Given the description of an element on the screen output the (x, y) to click on. 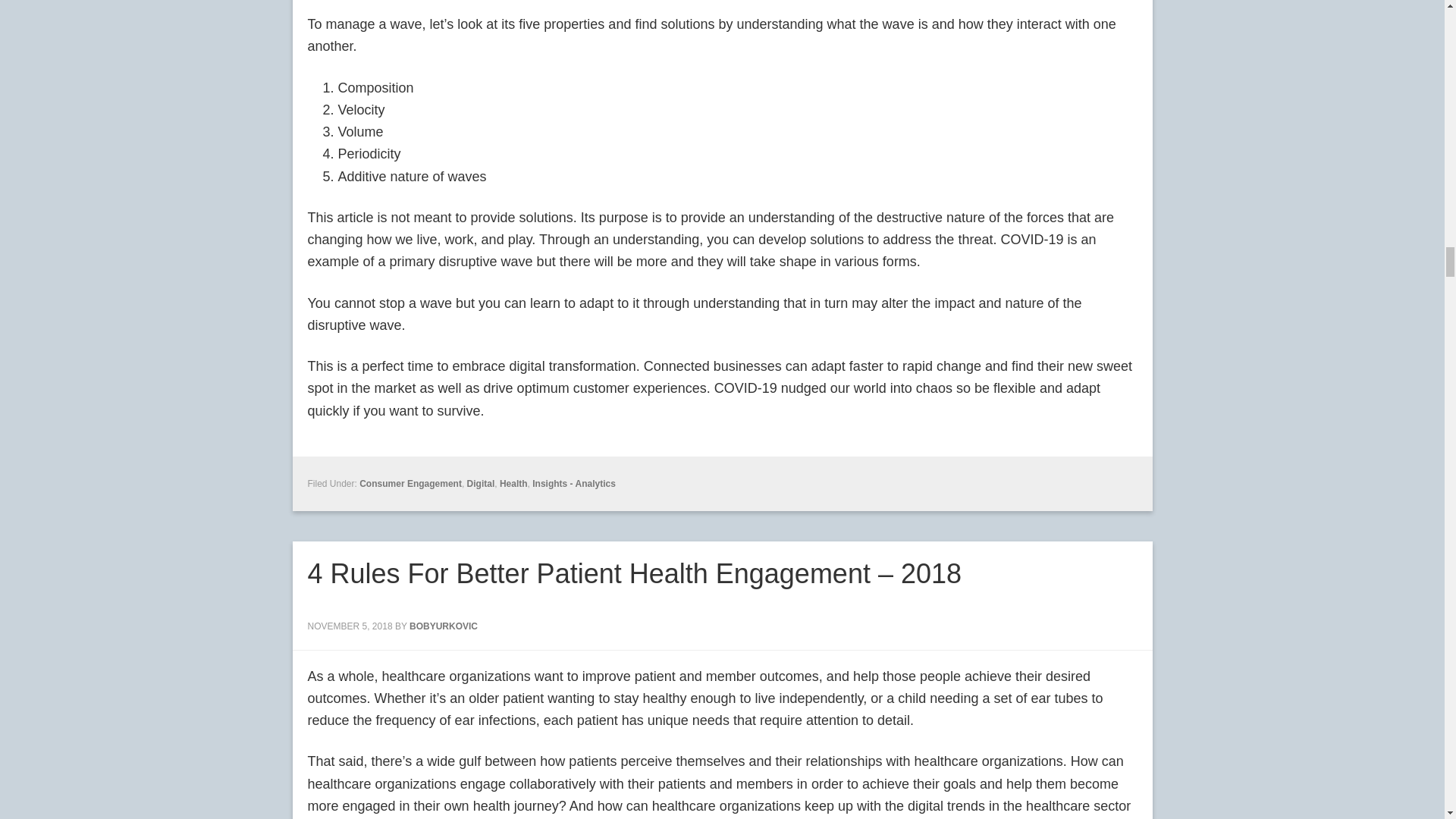
Digital (481, 483)
Consumer Engagement (410, 483)
Health (513, 483)
Insights - Analytics (573, 483)
BOBYURKOVIC (443, 625)
